Given the description of an element on the screen output the (x, y) to click on. 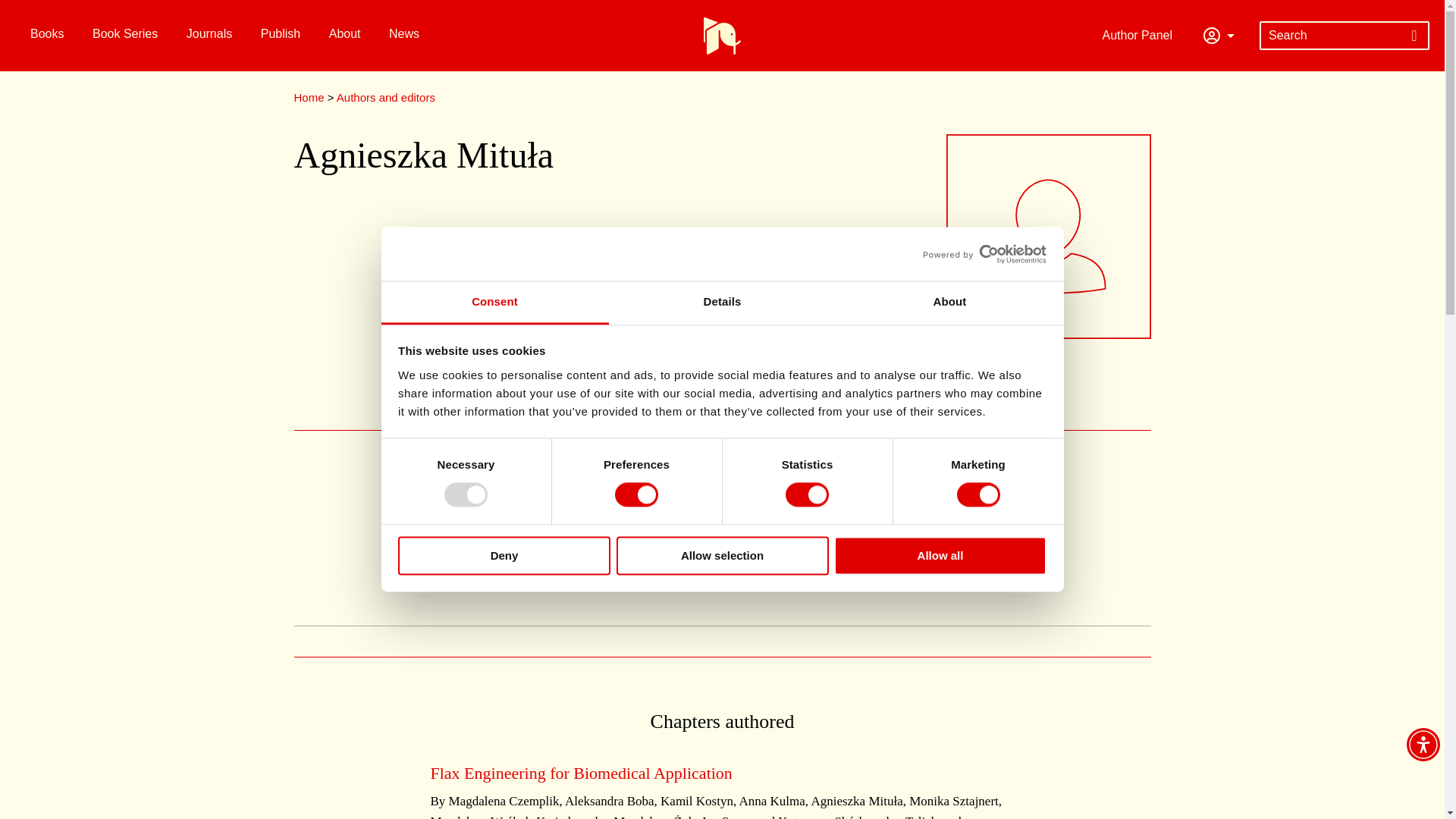
Accessibility Menu (1422, 744)
Consent (494, 302)
Details (721, 302)
About (948, 302)
